Given the description of an element on the screen output the (x, y) to click on. 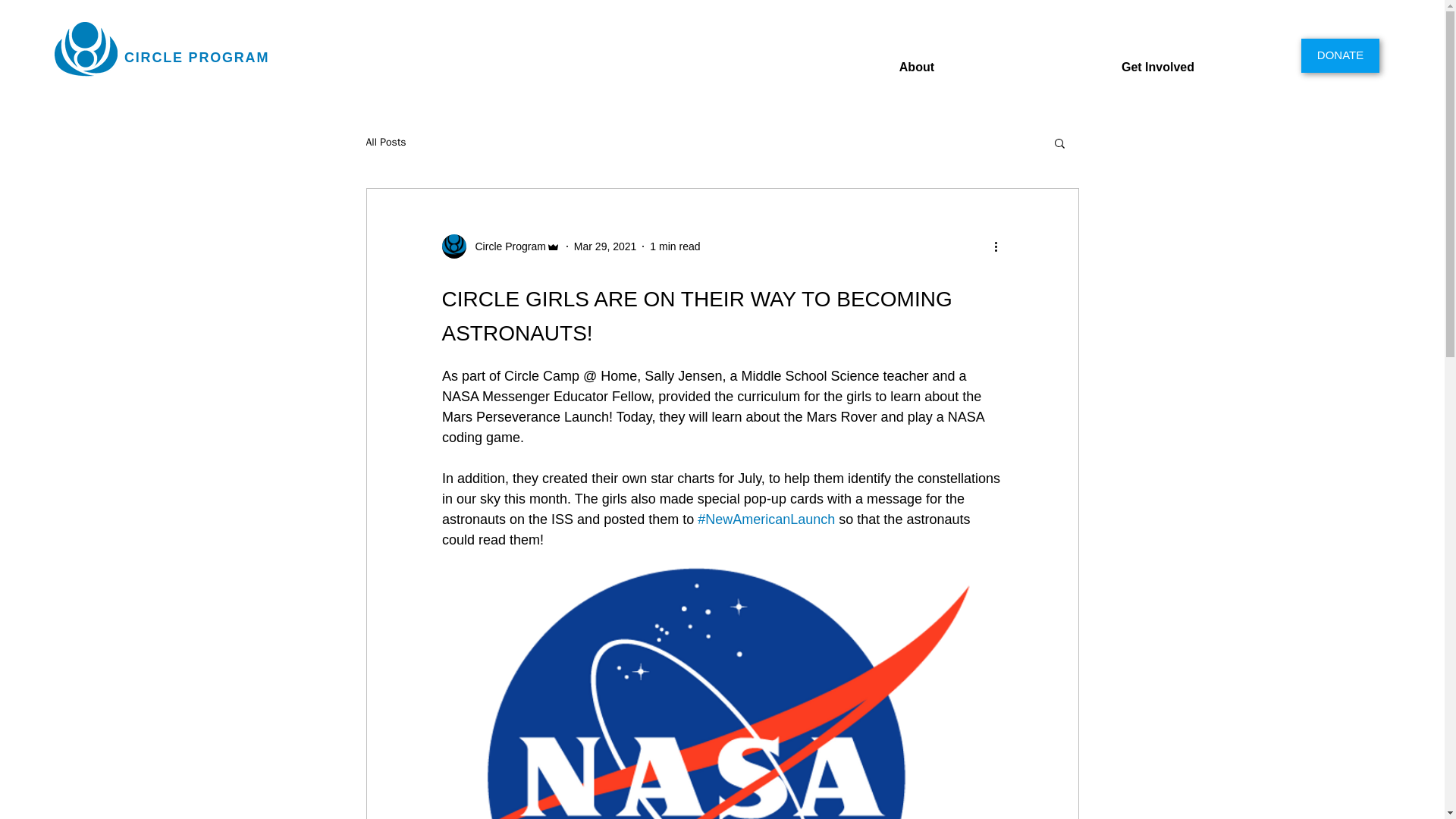
Circle Program (504, 246)
Mar 29, 2021 (605, 246)
Circle Program (500, 246)
CIRCLE PROGRAM (196, 57)
About (832, 60)
1 min read (674, 246)
DONATE (1339, 55)
Get Involved (1077, 60)
All Posts (385, 142)
